Given the description of an element on the screen output the (x, y) to click on. 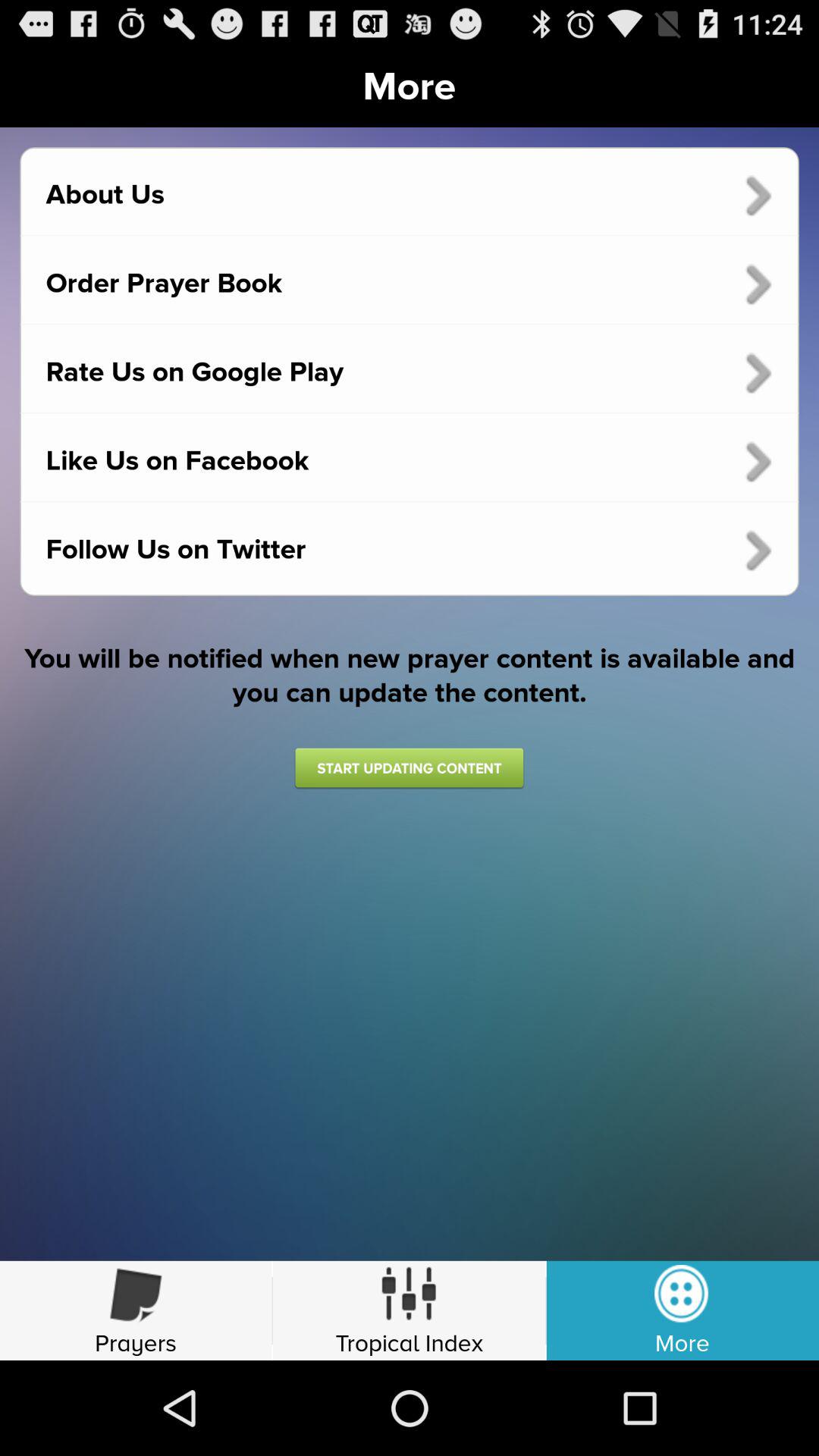
start update content (409, 767)
